Given the description of an element on the screen output the (x, y) to click on. 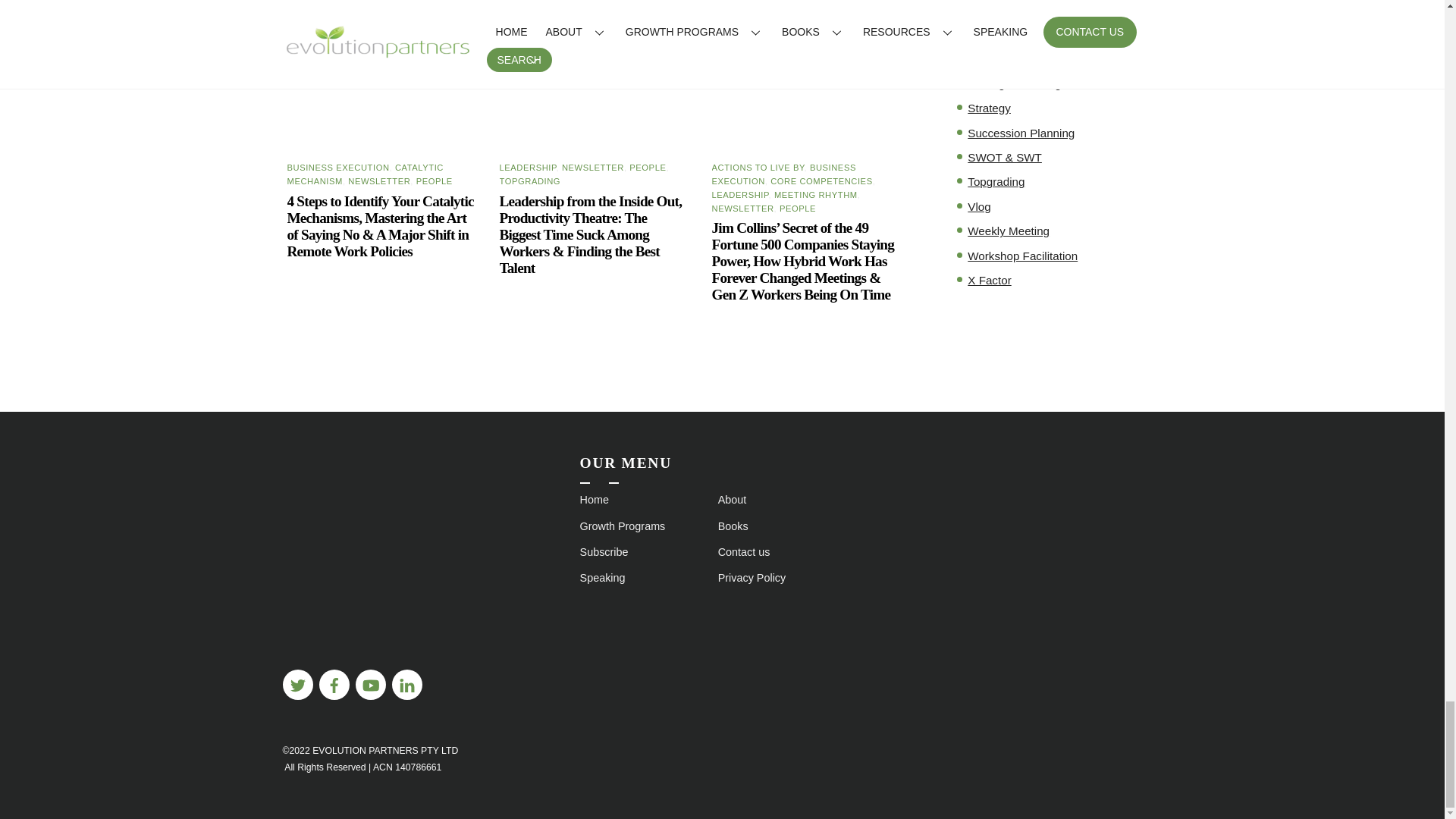
7 july 2024 (594, 76)
30 june 2024 (806, 76)
14 july 2024 (381, 76)
Evolution Partners (381, 646)
